Given the description of an element on the screen output the (x, y) to click on. 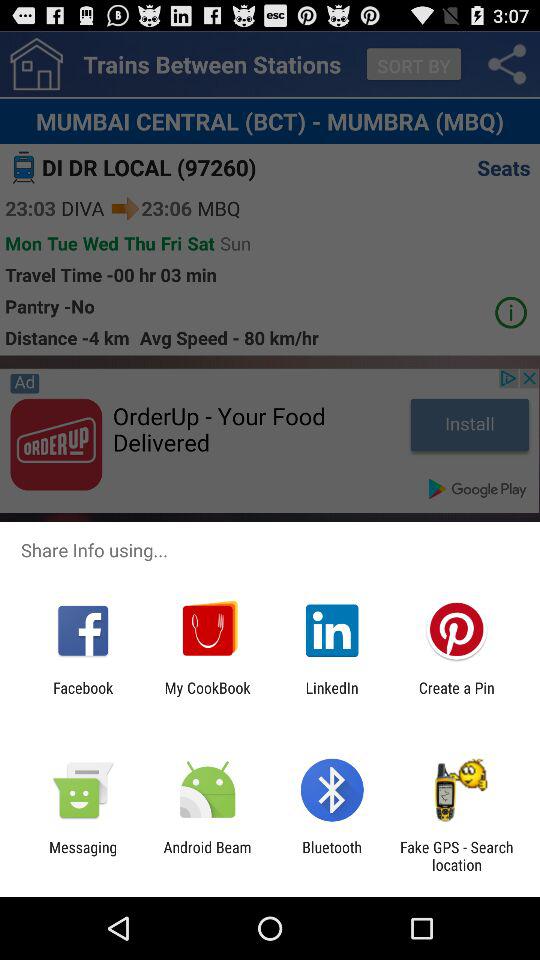
swipe to create a pin (456, 696)
